Given the description of an element on the screen output the (x, y) to click on. 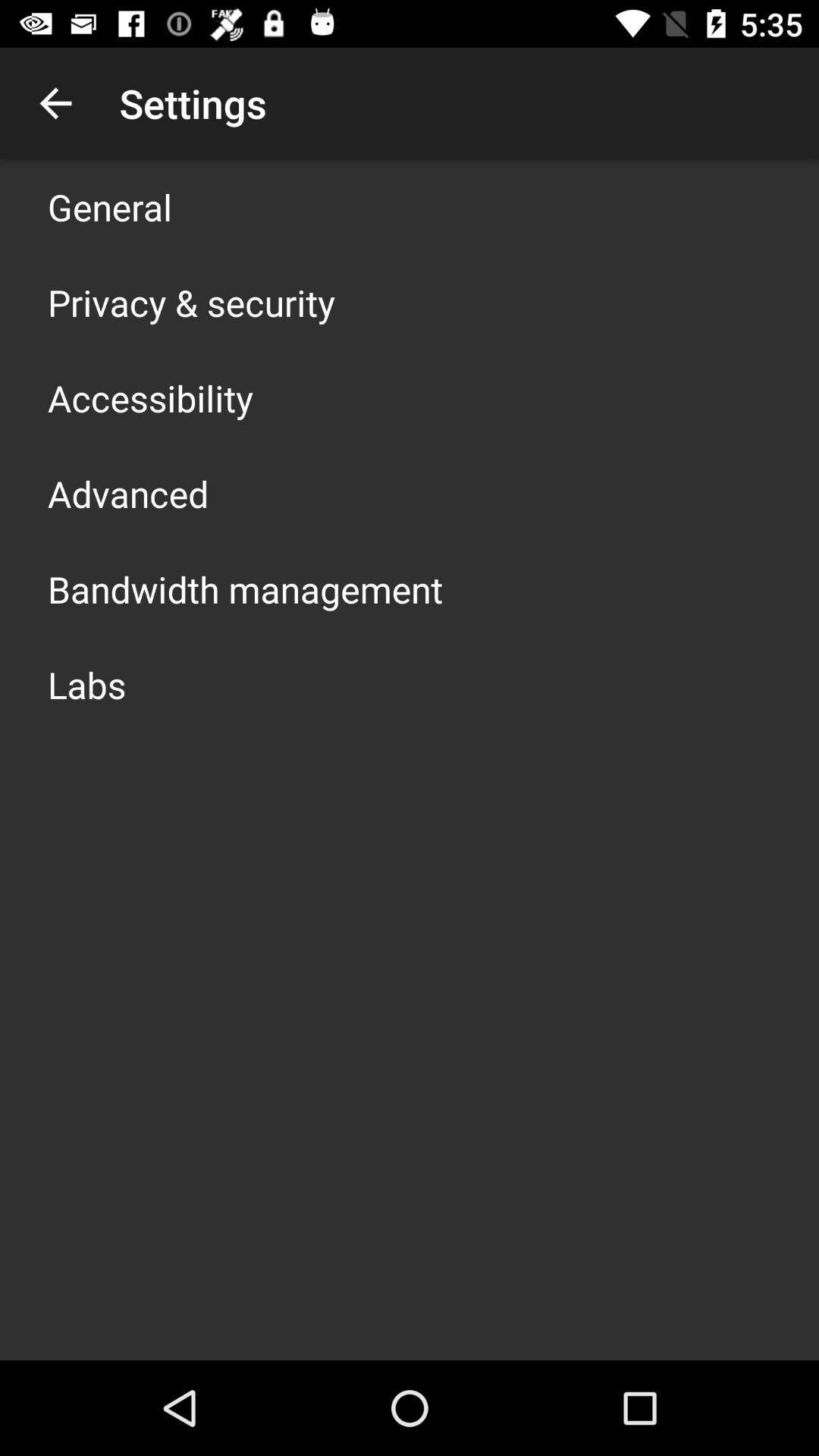
jump to advanced app (127, 493)
